Given the description of an element on the screen output the (x, y) to click on. 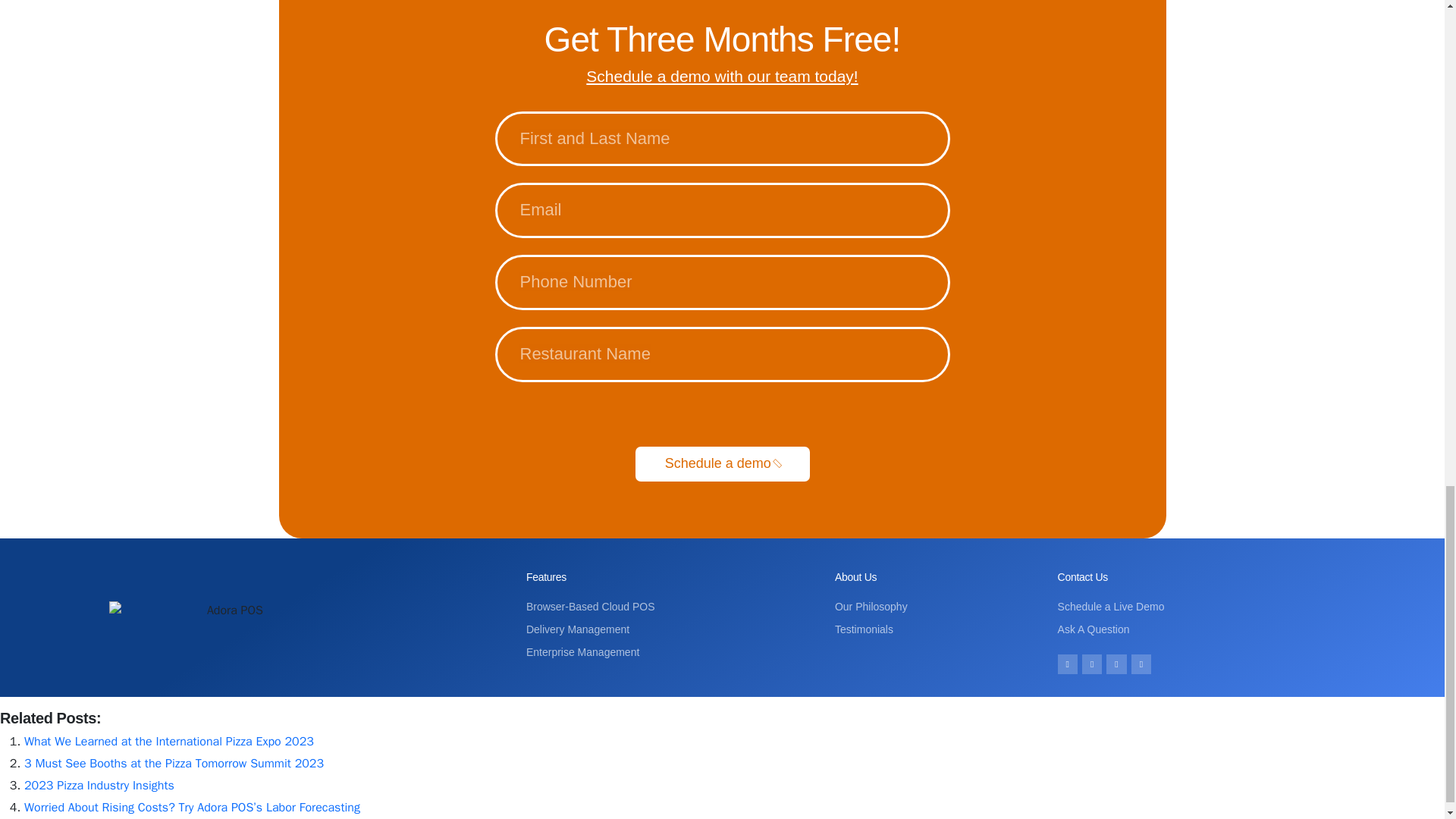
Contact Us (1083, 576)
Browser-Based Cloud POS (672, 606)
Features (545, 576)
2023 Pizza Industry Insights (99, 785)
About Us (855, 576)
Schedule a Live Demo (1198, 606)
Enterprise Management (672, 651)
3 Must See Booths at the Pizza Tomorrow Summit 2023 (173, 763)
Ask A Question (1198, 629)
Testimonials (938, 629)
